Given the description of an element on the screen output the (x, y) to click on. 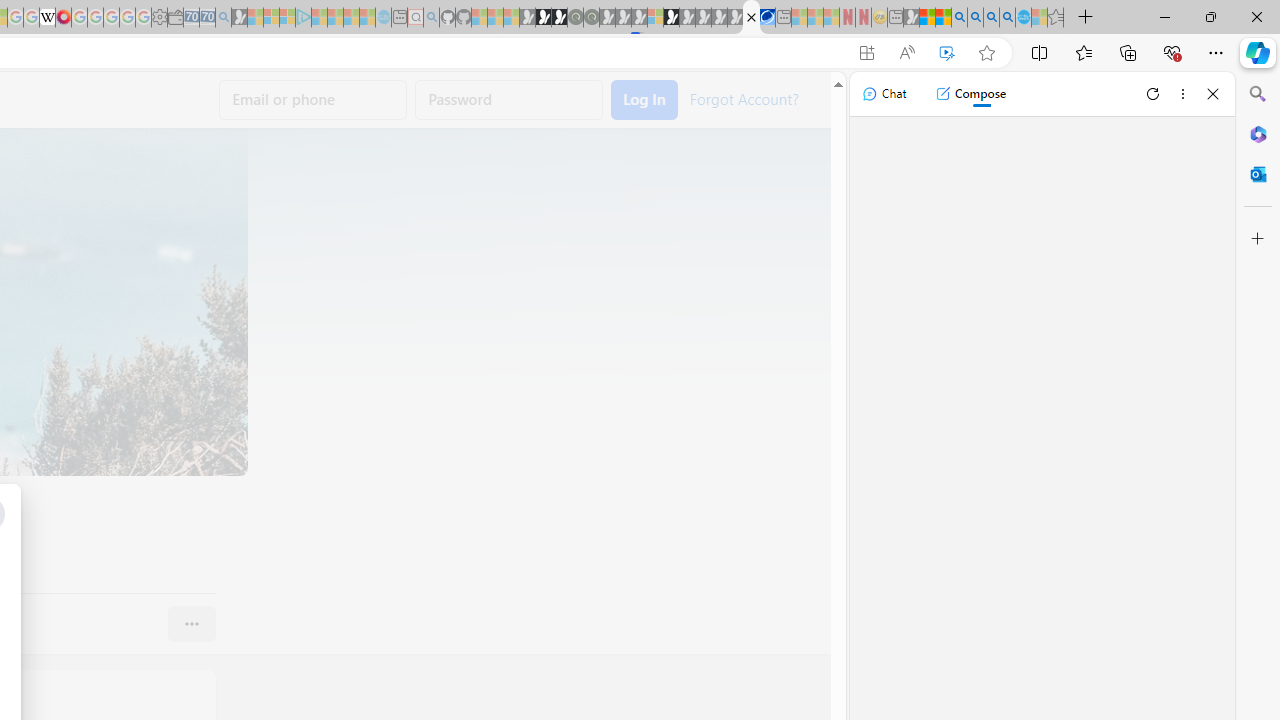
Nordace | Facebook (751, 17)
AirNow.gov (767, 17)
Compose (970, 93)
Enhance video (946, 53)
Bing AI - Search (959, 17)
